Given the description of an element on the screen output the (x, y) to click on. 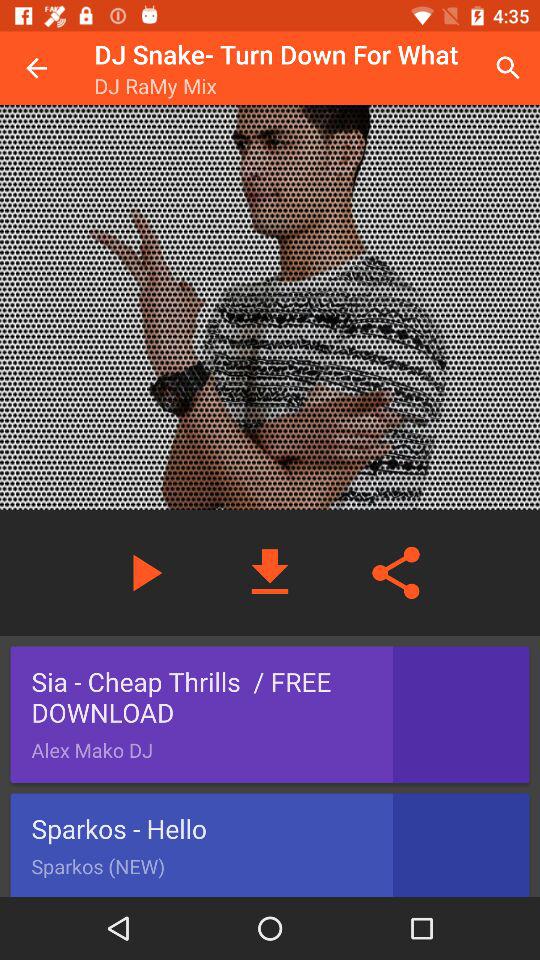
tap the item at the top right corner (508, 67)
